Given the description of an element on the screen output the (x, y) to click on. 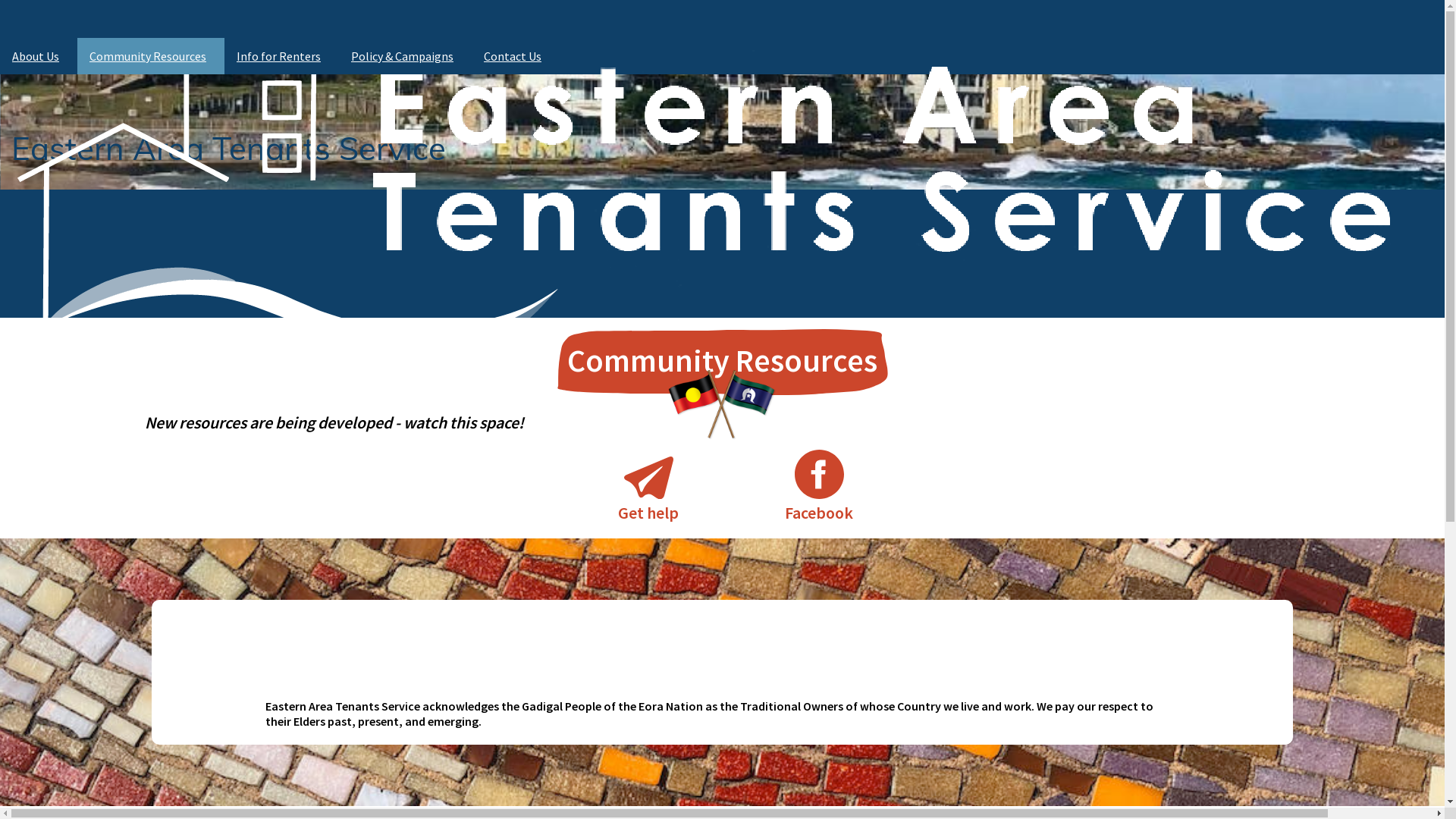
About Us Element type: text (38, 55)
Community Resources Element type: text (150, 55)
Home Element type: hover (721, 360)
facebook_icon
Facebook Element type: text (818, 486)
Skip to main content Element type: text (0, 0)
Policy & Campaigns Element type: text (404, 55)
Info for Renters Element type: text (281, 55)
Contact Us Element type: text (512, 55)
